Given the description of an element on the screen output the (x, y) to click on. 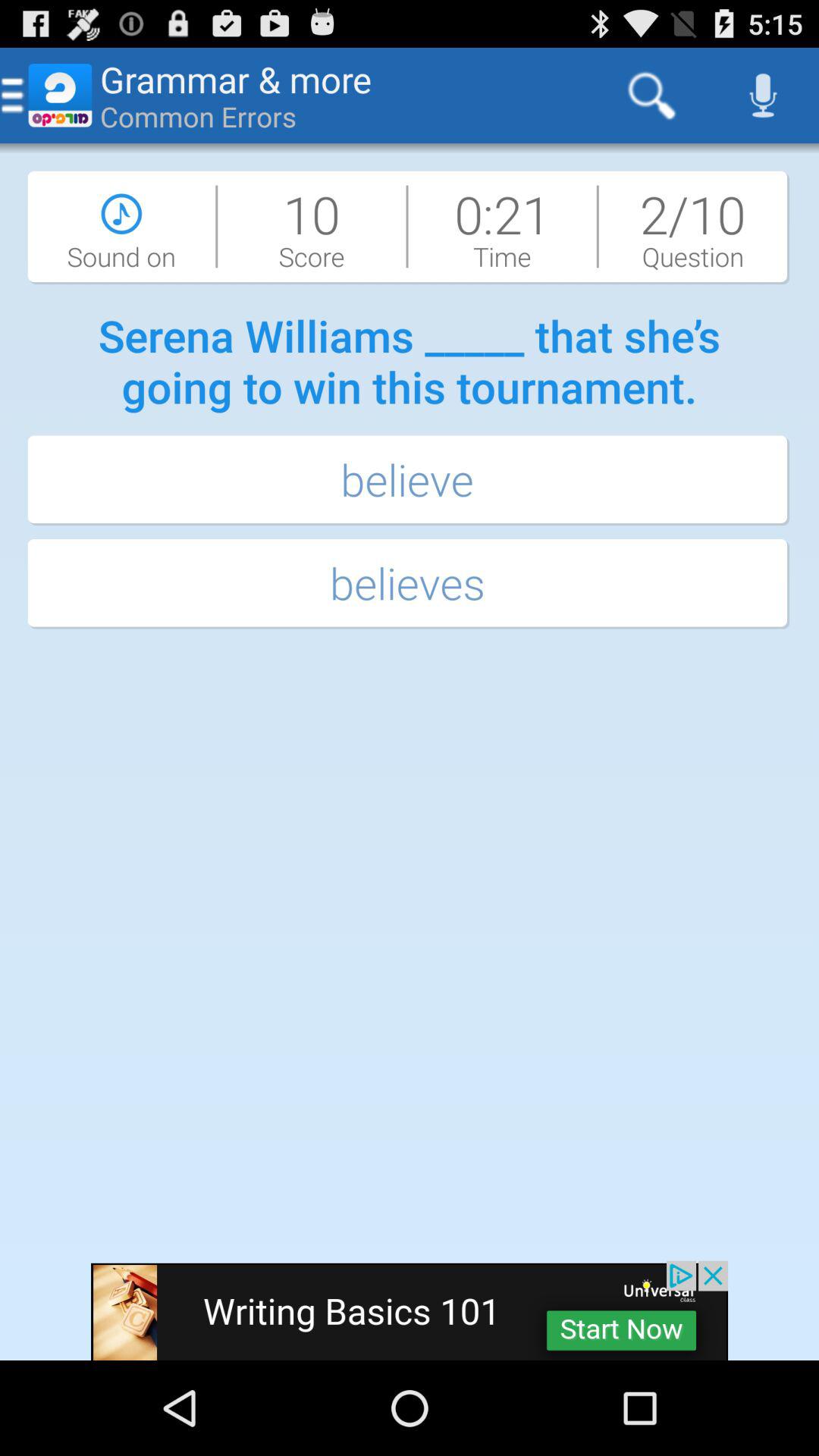
click advertisement (409, 1310)
